Given the description of an element on the screen output the (x, y) to click on. 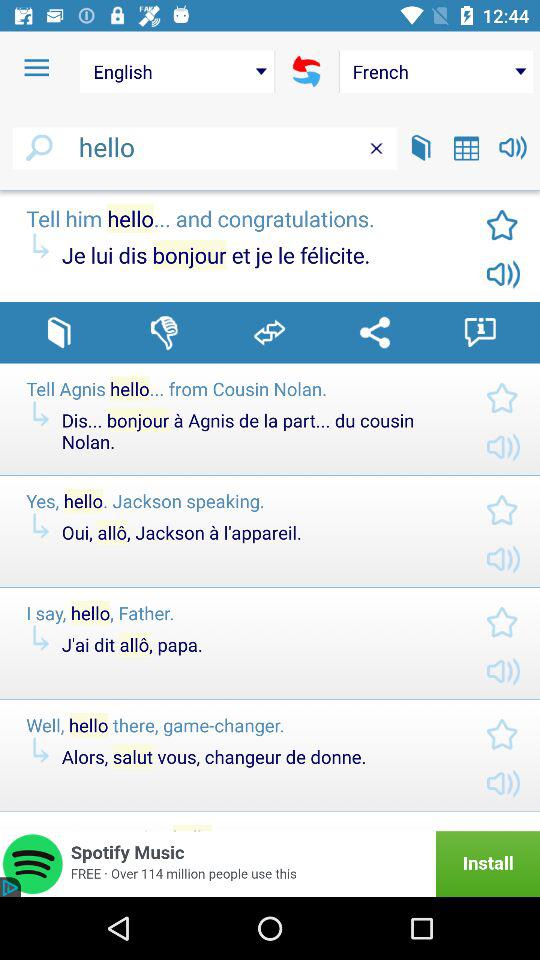
get information (480, 332)
